Given the description of an element on the screen output the (x, y) to click on. 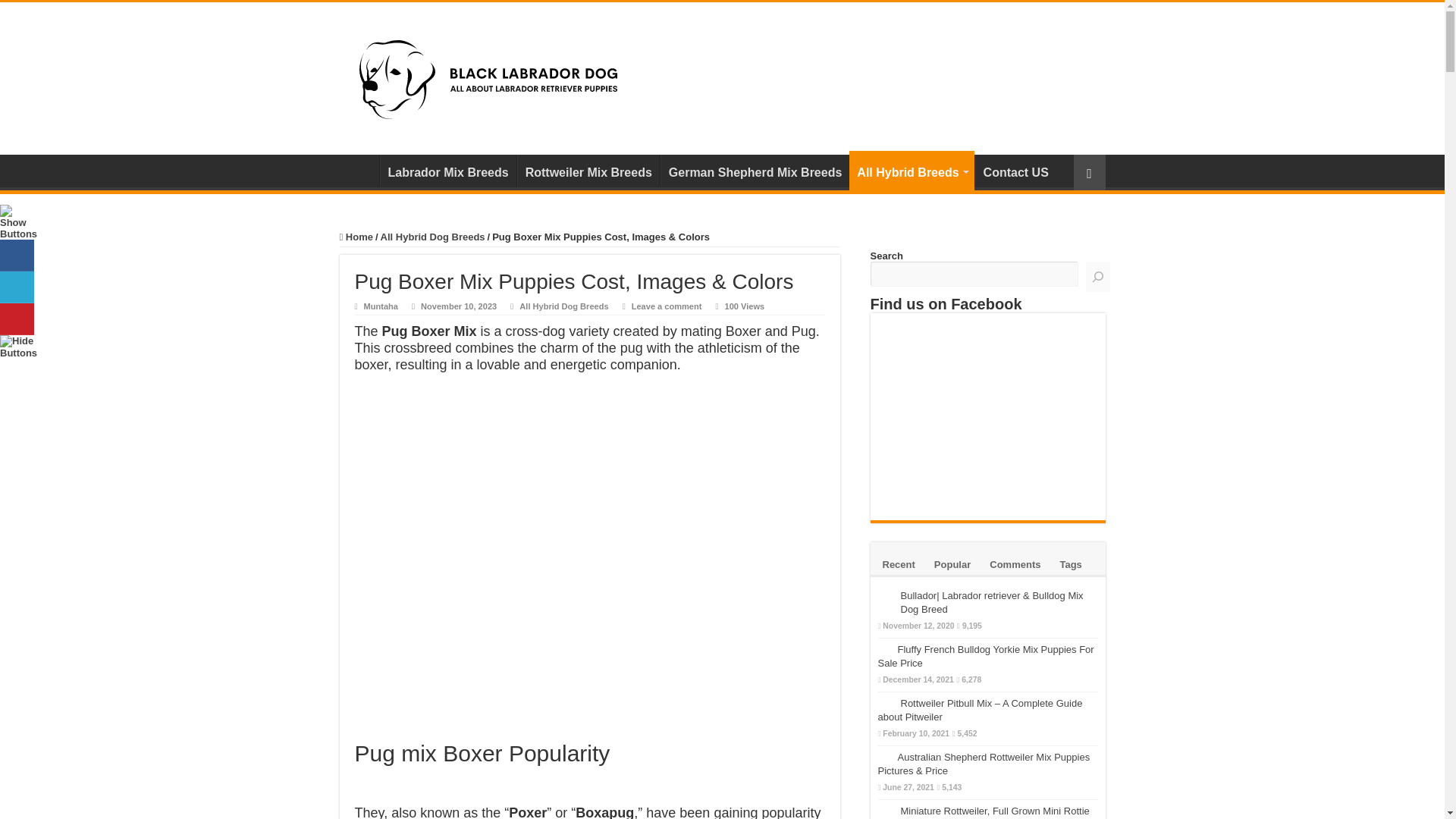
Home (355, 236)
Muntaha (380, 306)
German Shepherd Mix Breeds (755, 170)
Labrador Mix Breeds (446, 170)
Black Labrador Dog (488, 75)
Contact US (1016, 170)
Random Article (1089, 172)
Leave a comment (666, 306)
All Hybrid Dog Breeds (563, 306)
All Hybrid Dog Breeds (432, 236)
